Given the description of an element on the screen output the (x, y) to click on. 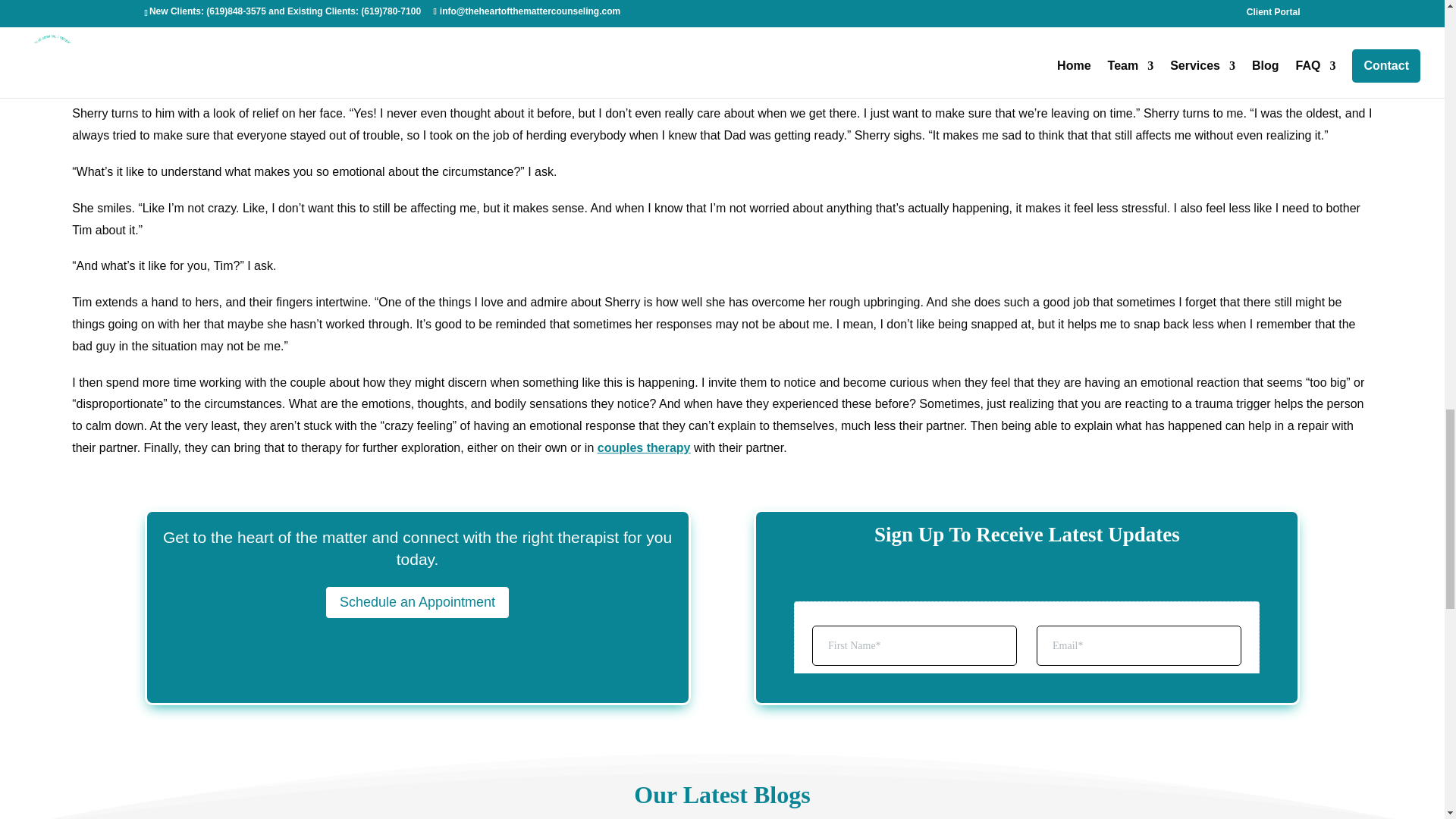
Schedule an Appointment (416, 601)
couples therapy (643, 447)
Email Newsletter Sign Up (1026, 616)
